Given the description of an element on the screen output the (x, y) to click on. 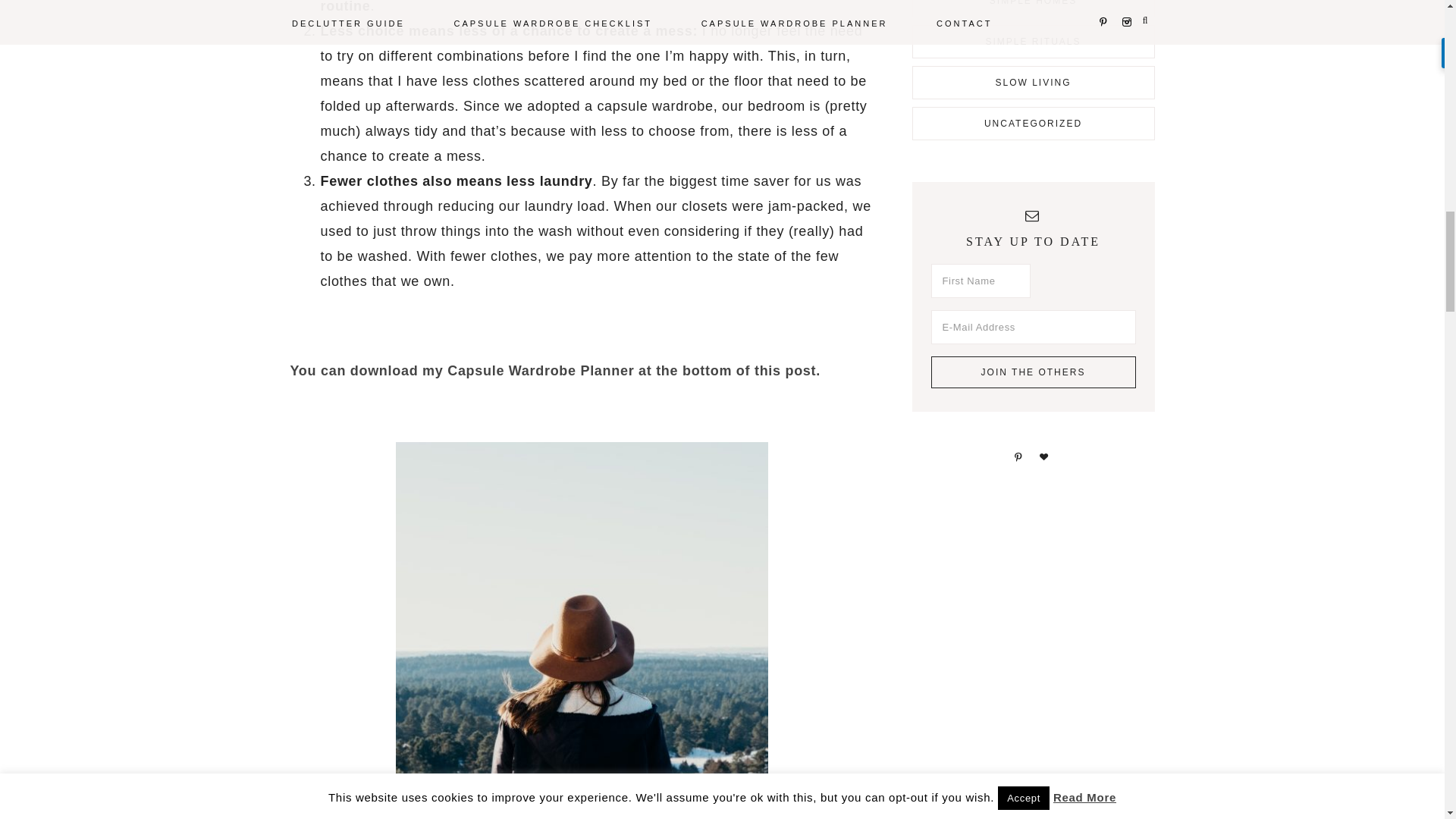
Pinterest (1018, 456)
Join the others (1033, 372)
Bloglovin (1043, 456)
